Given the description of an element on the screen output the (x, y) to click on. 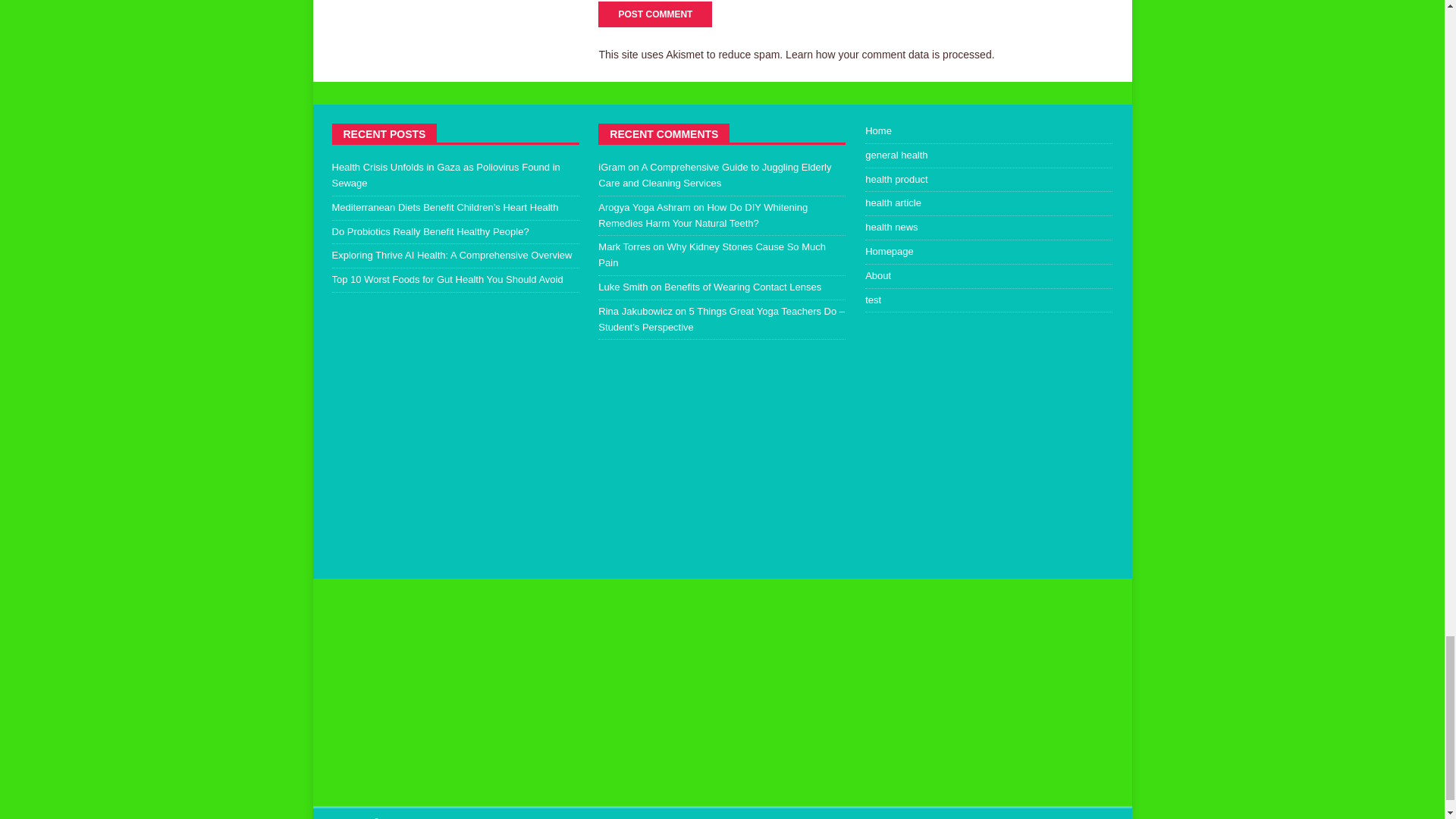
Exploring Thrive AI Health: A Comprehensive Overview (451, 255)
iGram (611, 166)
Do Probiotics Really Benefit Healthy People? (430, 231)
Learn how your comment data is processed (888, 54)
Post Comment (654, 14)
Top 10 Worst Foods for Gut Health You Should Avoid (447, 279)
Post Comment (654, 14)
Health Crisis Unfolds in Gaza as Poliovirus Found in Sewage (445, 175)
